Given the description of an element on the screen output the (x, y) to click on. 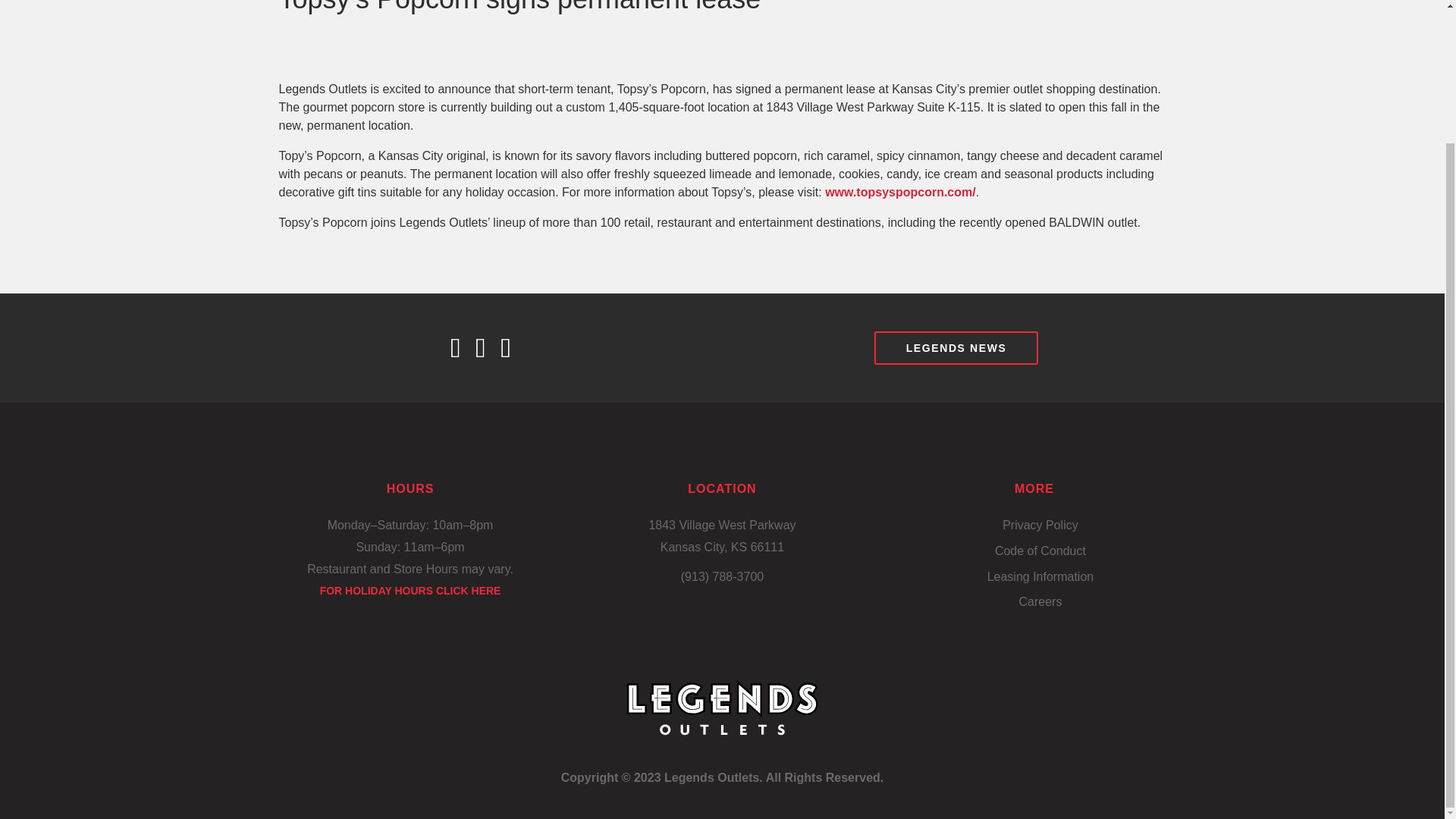
Careers (1039, 602)
Leasing Information (1040, 577)
Privacy Policy (1040, 526)
FOR HOLIDAY HOURS CLICK HERE (410, 590)
LegendsOutletsLogo-footerlogo (721, 708)
Follow on Instagram (512, 347)
Follow on X (488, 347)
Follow on Facebook (462, 347)
LEGENDS NEWS (957, 347)
Code of Conduct (1040, 551)
